Given the description of an element on the screen output the (x, y) to click on. 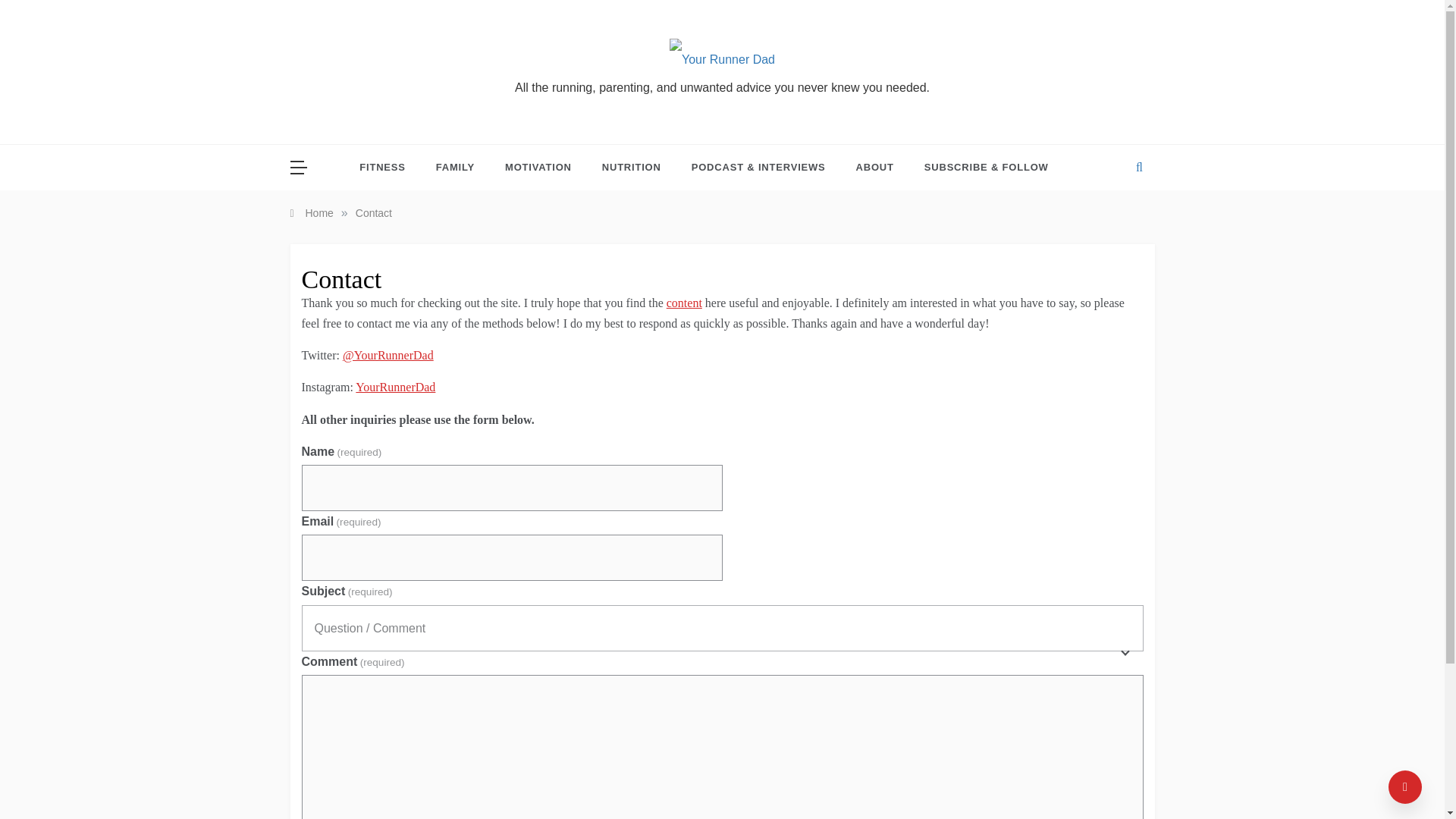
Home (311, 213)
Go to Top (1405, 786)
FITNESS (389, 167)
Contact (373, 213)
content (683, 302)
NUTRITION (631, 167)
FAMILY (454, 167)
ABOUT (874, 167)
MOTIVATION (537, 167)
YourRunnerDad (395, 386)
